Given the description of an element on the screen output the (x, y) to click on. 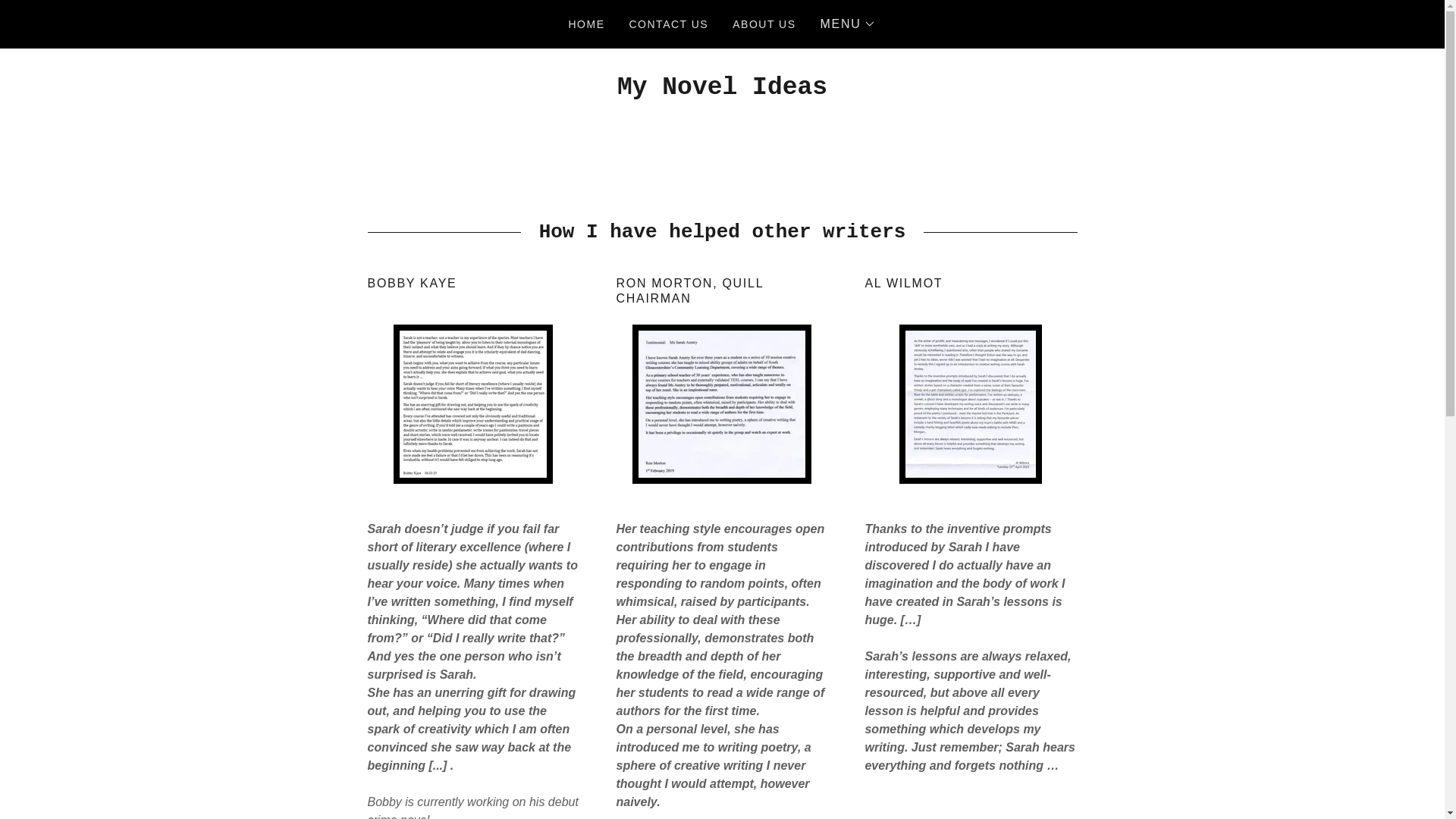
My Novel Ideas (722, 89)
ABOUT US (763, 23)
HOME (587, 23)
My Novel Ideas (722, 89)
CONTACT US (668, 23)
MENU (847, 23)
